Given the description of an element on the screen output the (x, y) to click on. 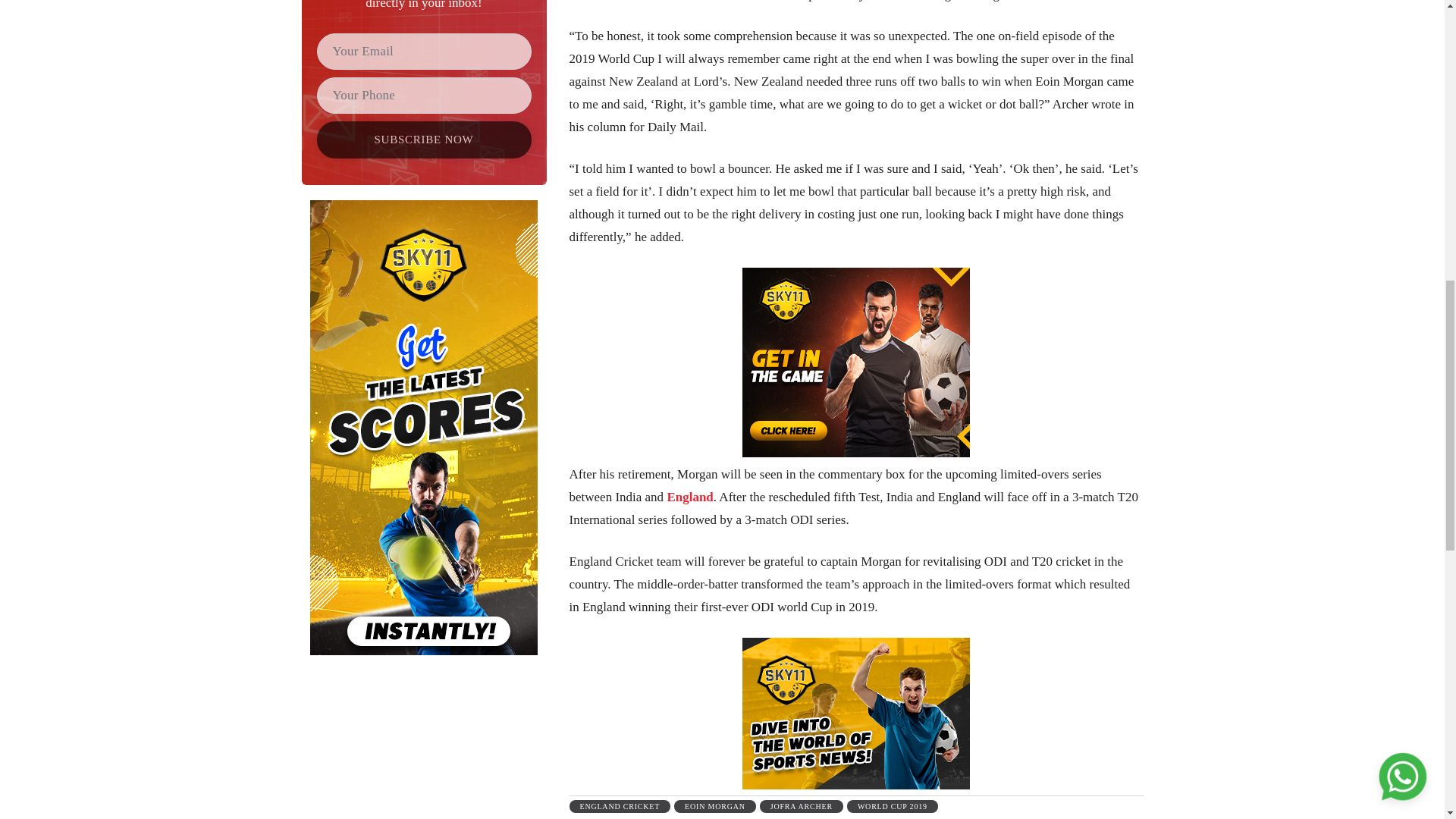
SUBSCRIBE NOW (424, 139)
England (689, 496)
EOIN MORGAN (714, 806)
JOFRA ARCHER (801, 806)
WORLD CUP 2019 (892, 806)
ENGLAND CRICKET (619, 806)
